Given the description of an element on the screen output the (x, y) to click on. 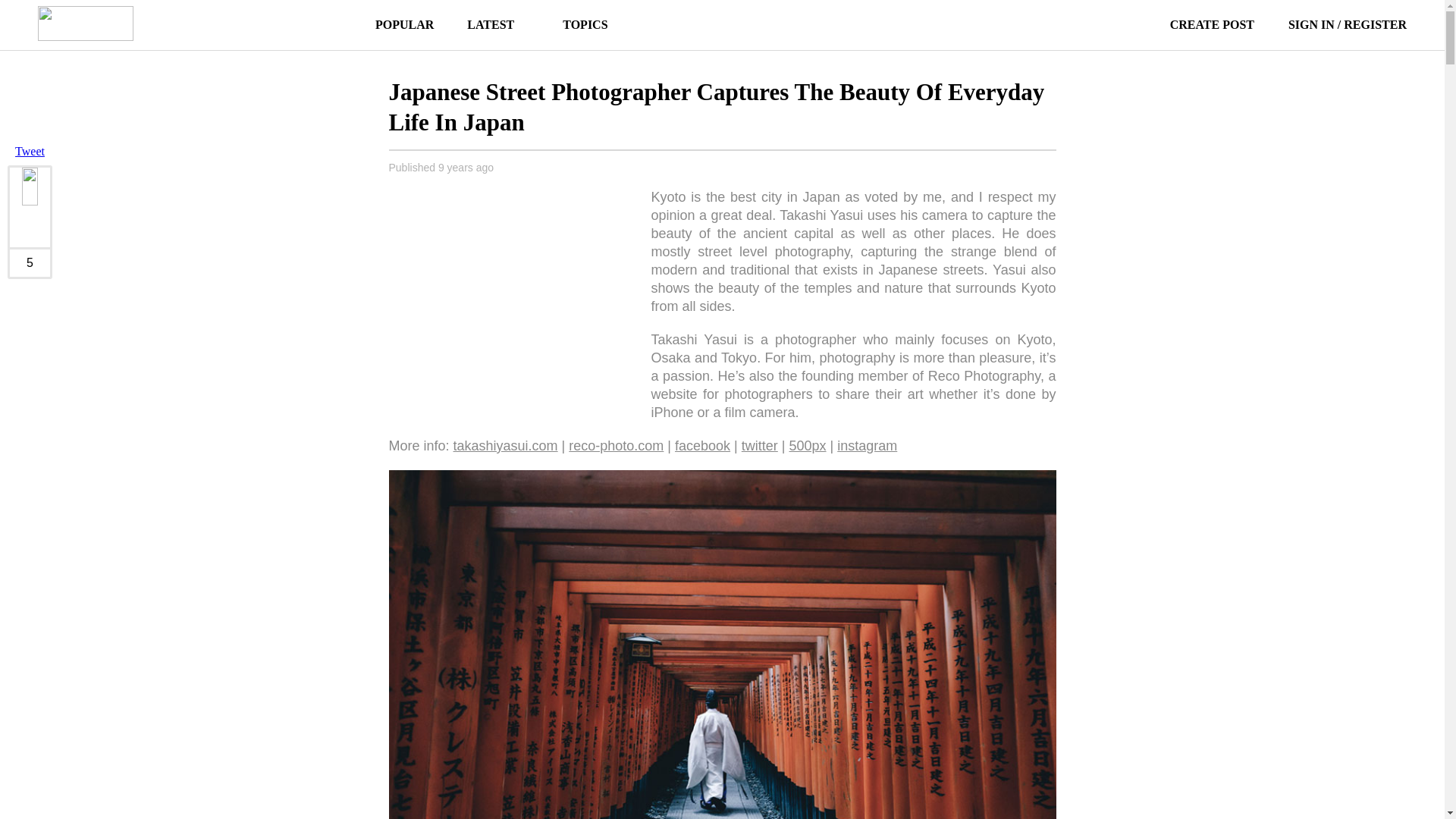
TOPICS (577, 24)
POPULAR (404, 24)
LATEST (490, 24)
CREATE POST (1194, 24)
